Given the description of an element on the screen output the (x, y) to click on. 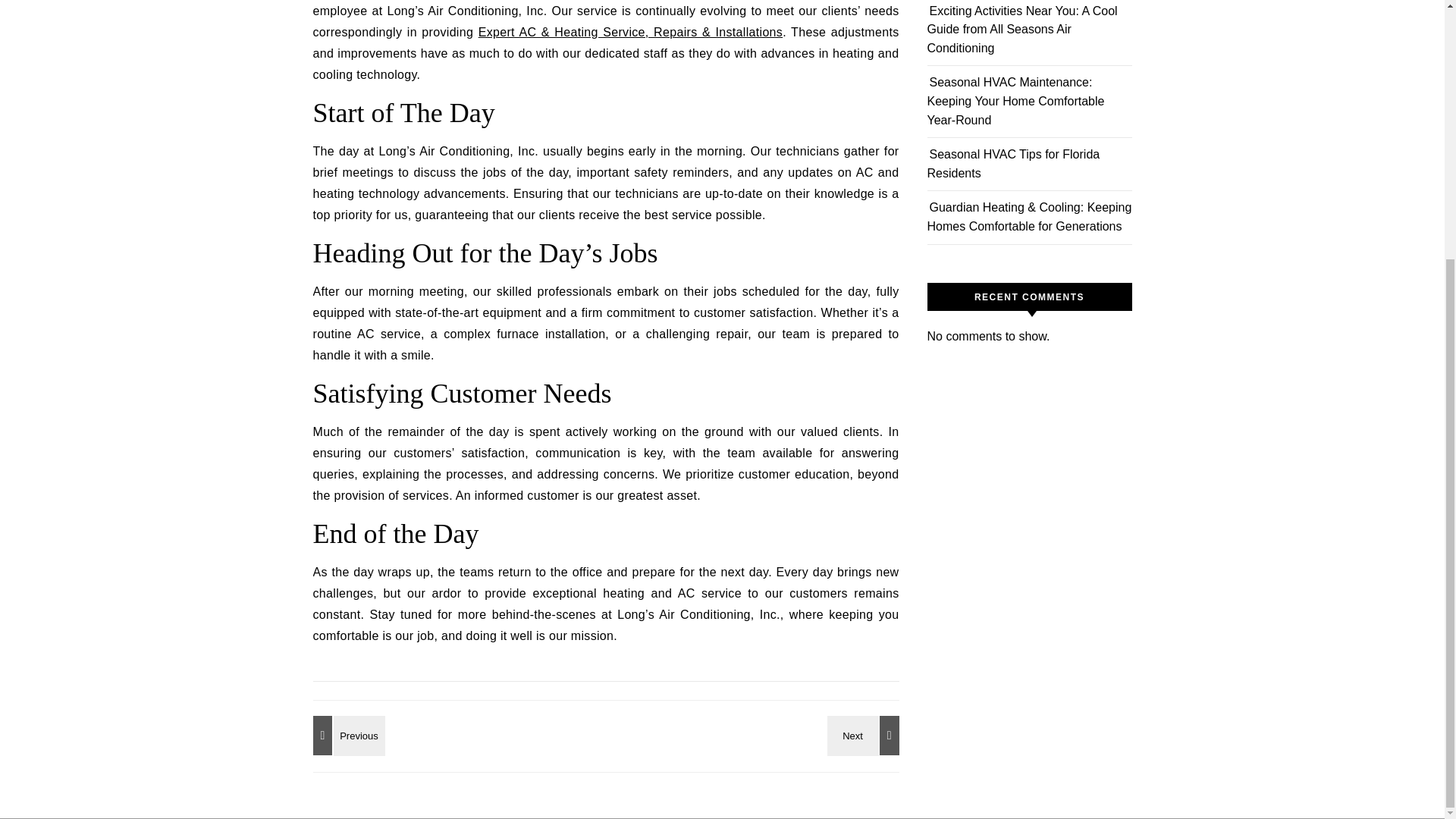
Seasonal HVAC Tips for Florida Residents (1012, 163)
Comprehensive HVAC Services at Alan Energy Services (346, 735)
